Given the description of an element on the screen output the (x, y) to click on. 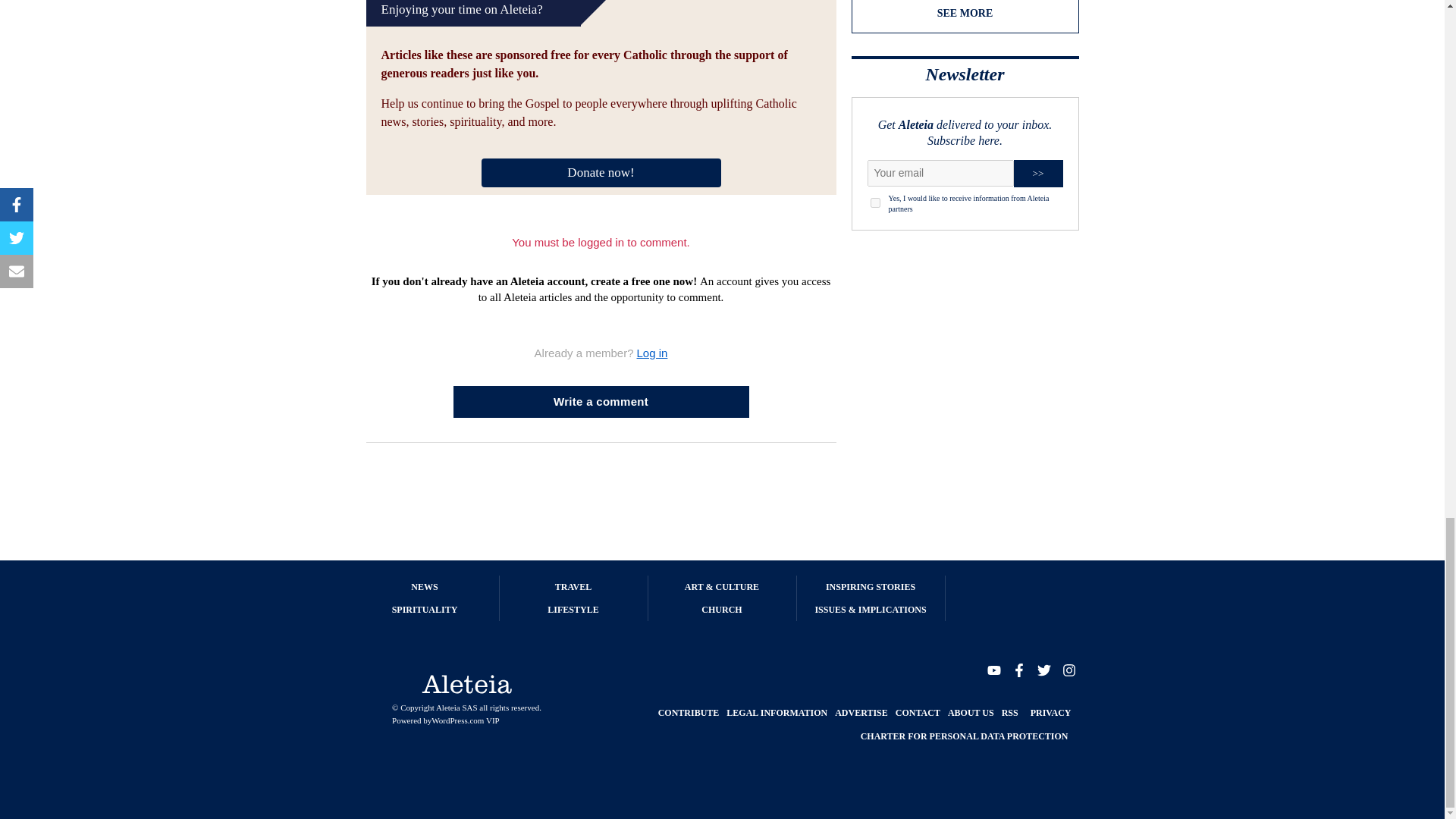
1 (875, 203)
social-ig-footer (1068, 669)
social-fb-footer (1018, 669)
social-yt-footer (994, 669)
